Given the description of an element on the screen output the (x, y) to click on. 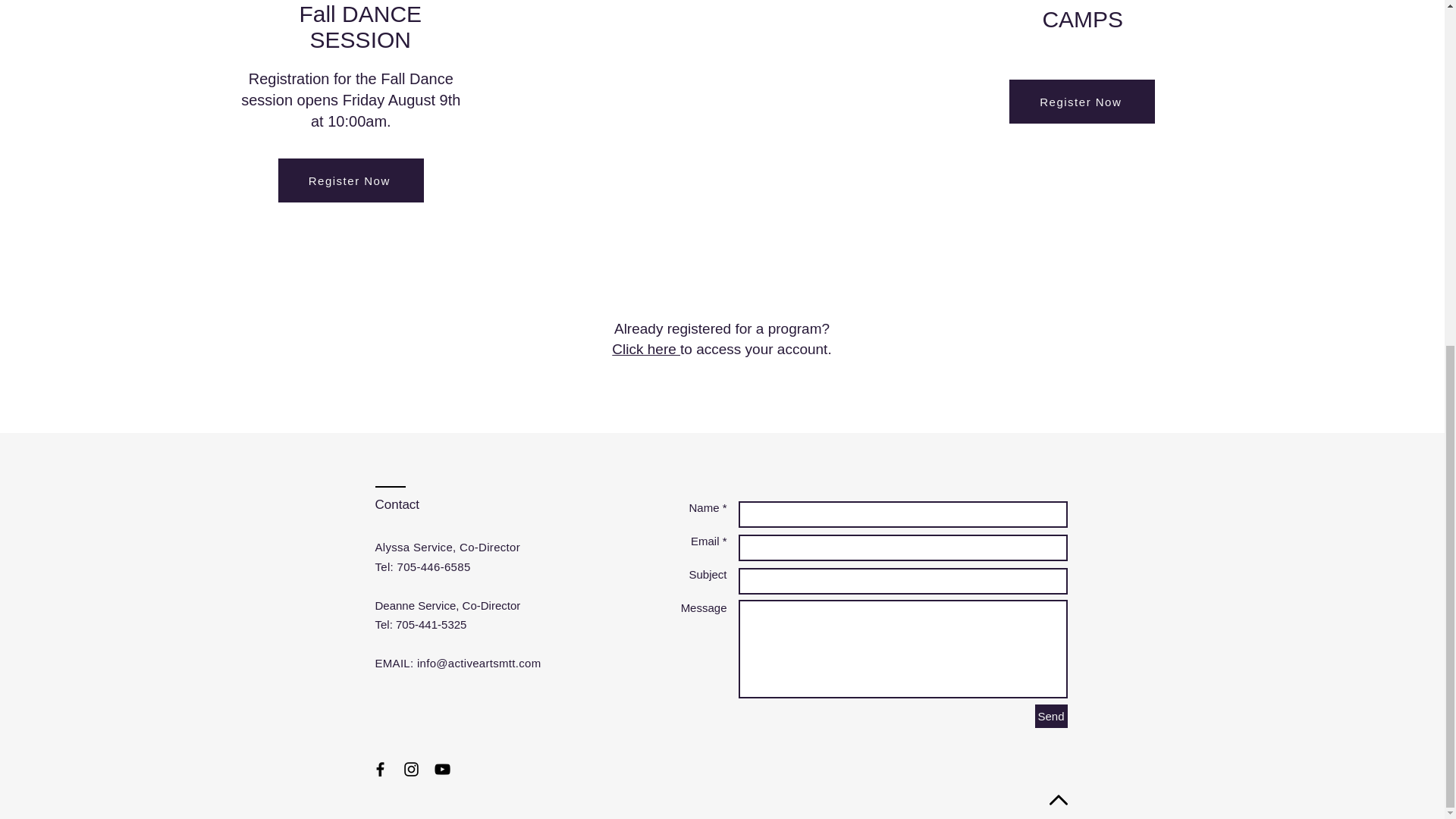
CAMPS (1082, 18)
Register Now (1081, 101)
Send (1050, 716)
Register Now (350, 180)
Click here (360, 26)
